Given the description of an element on the screen output the (x, y) to click on. 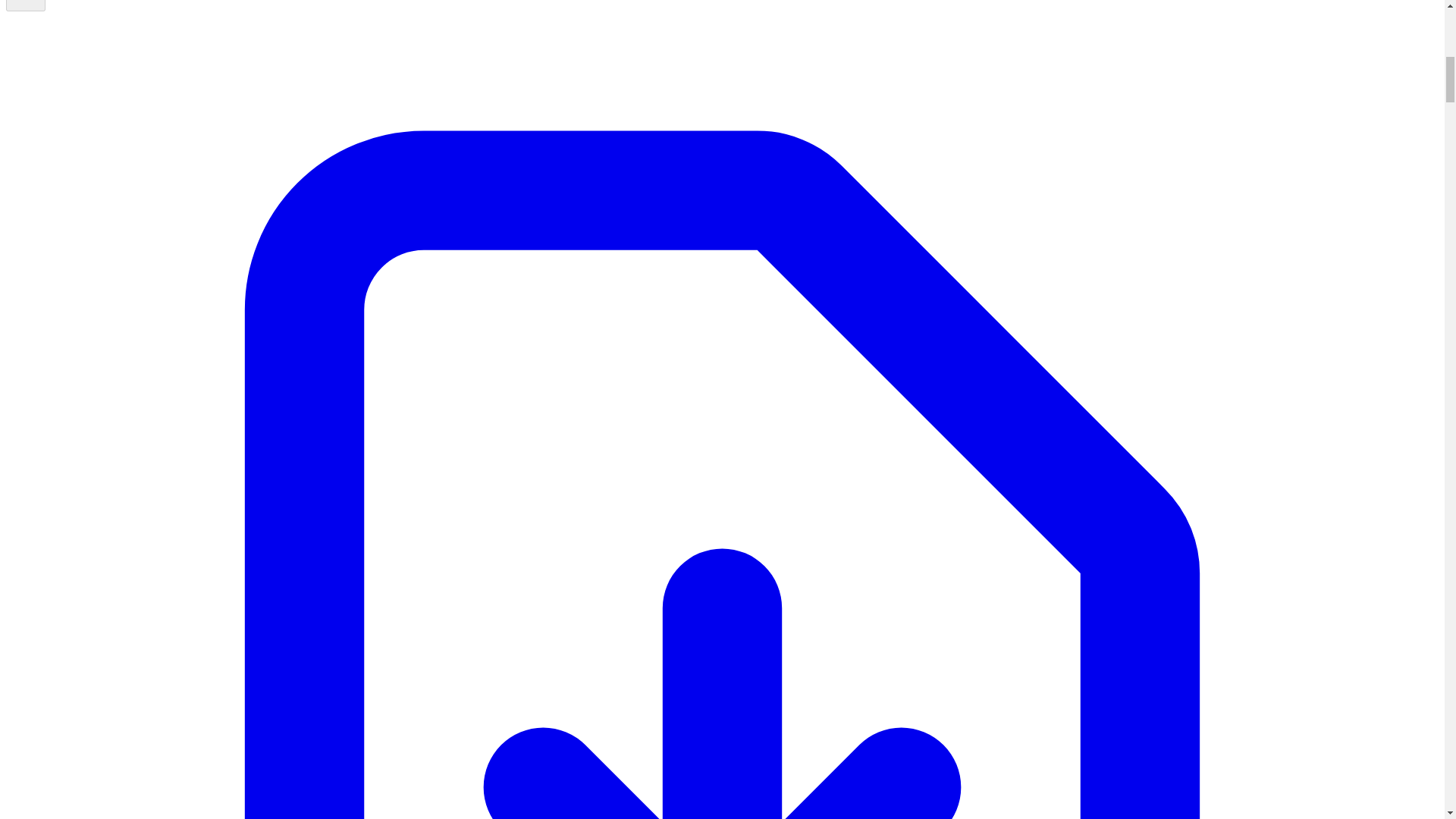
Share (25, 5)
